Given the description of an element on the screen output the (x, y) to click on. 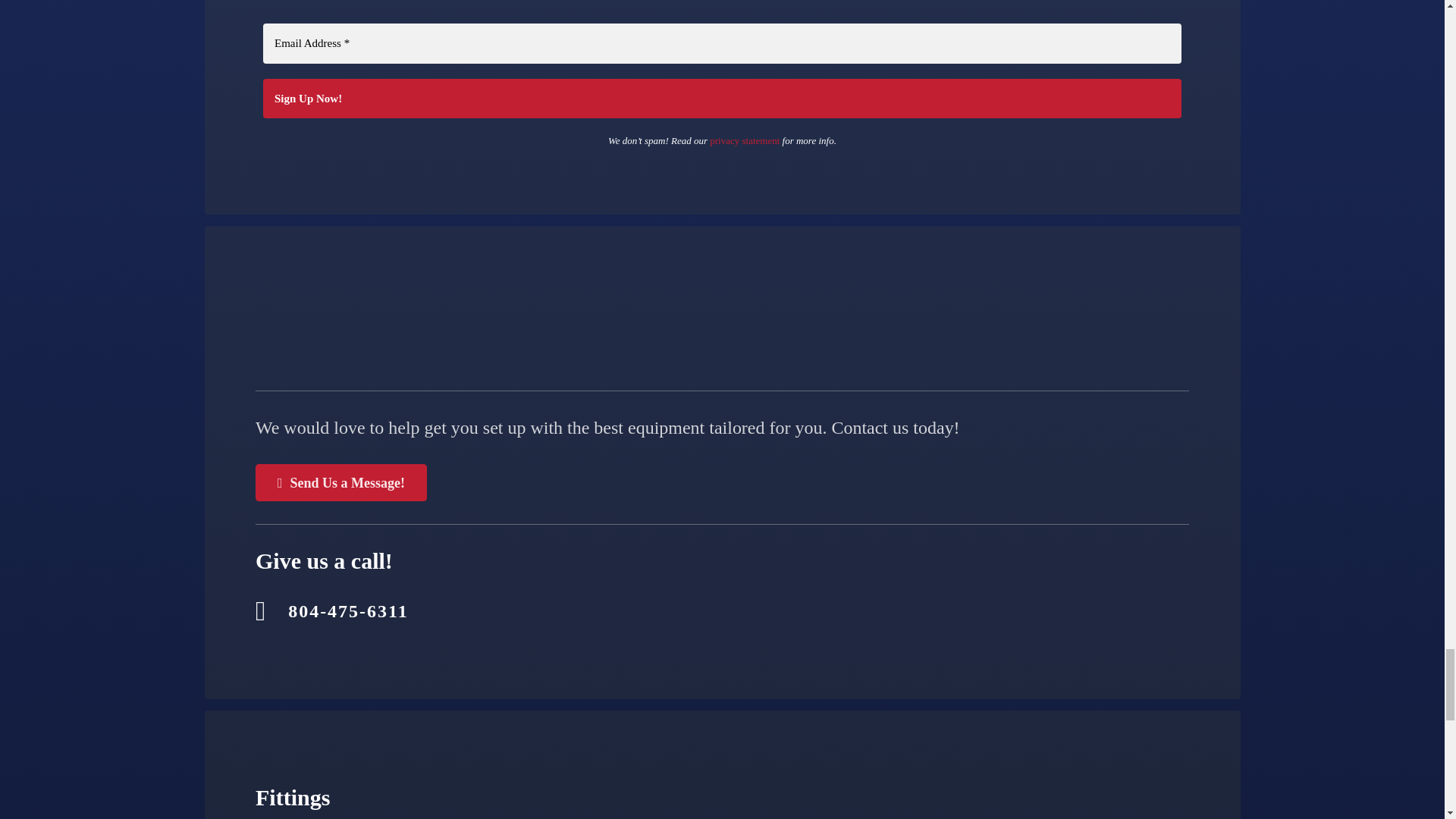
Sign Up Now! (721, 98)
Email Address (721, 43)
